Given the description of an element on the screen output the (x, y) to click on. 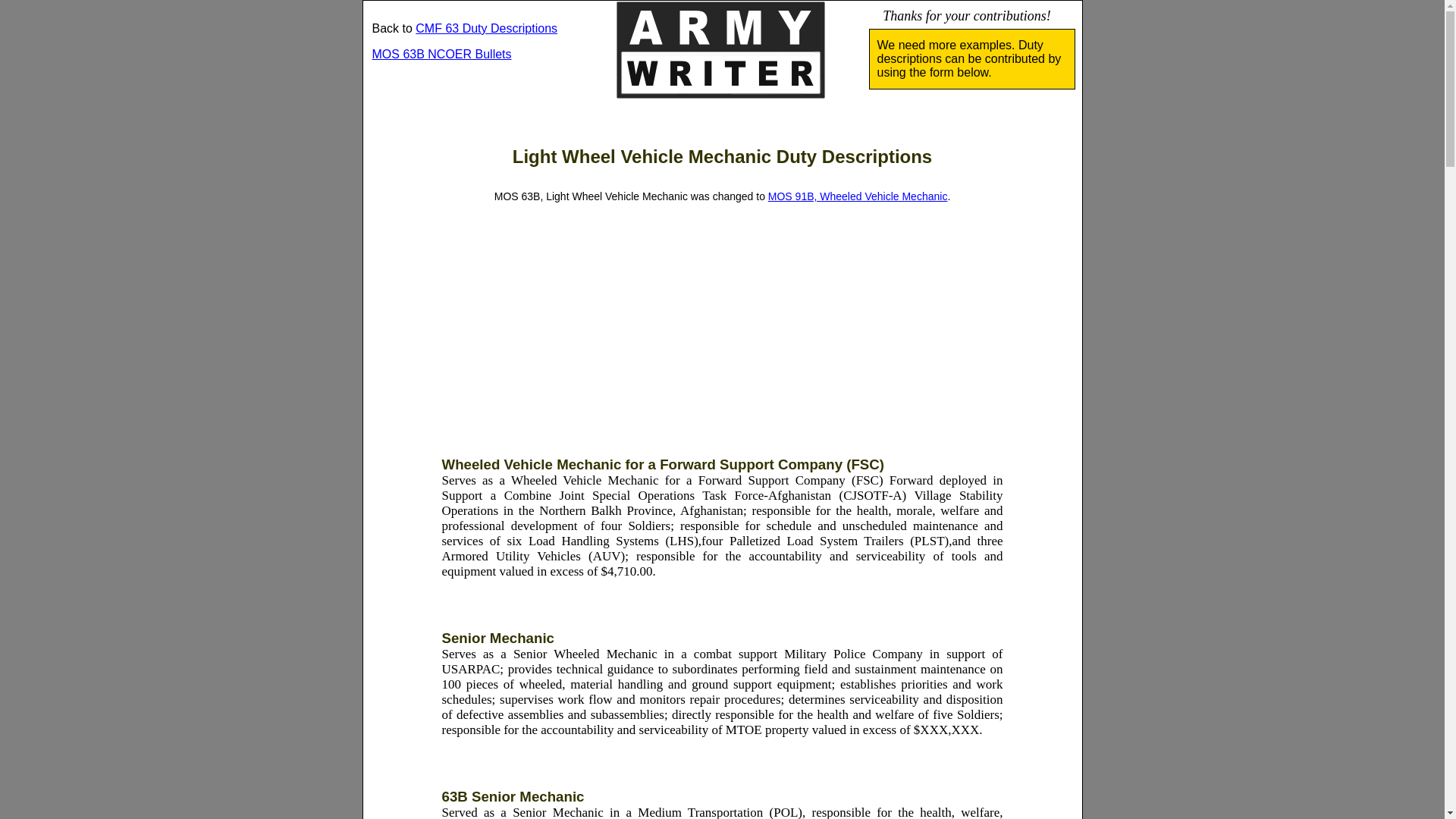
MOS 63B NCOER Bullets (441, 53)
CMF 63 Duty Descriptions (485, 28)
MOS 91B, Wheeled Vehicle Mechanic (857, 196)
